Given the description of an element on the screen output the (x, y) to click on. 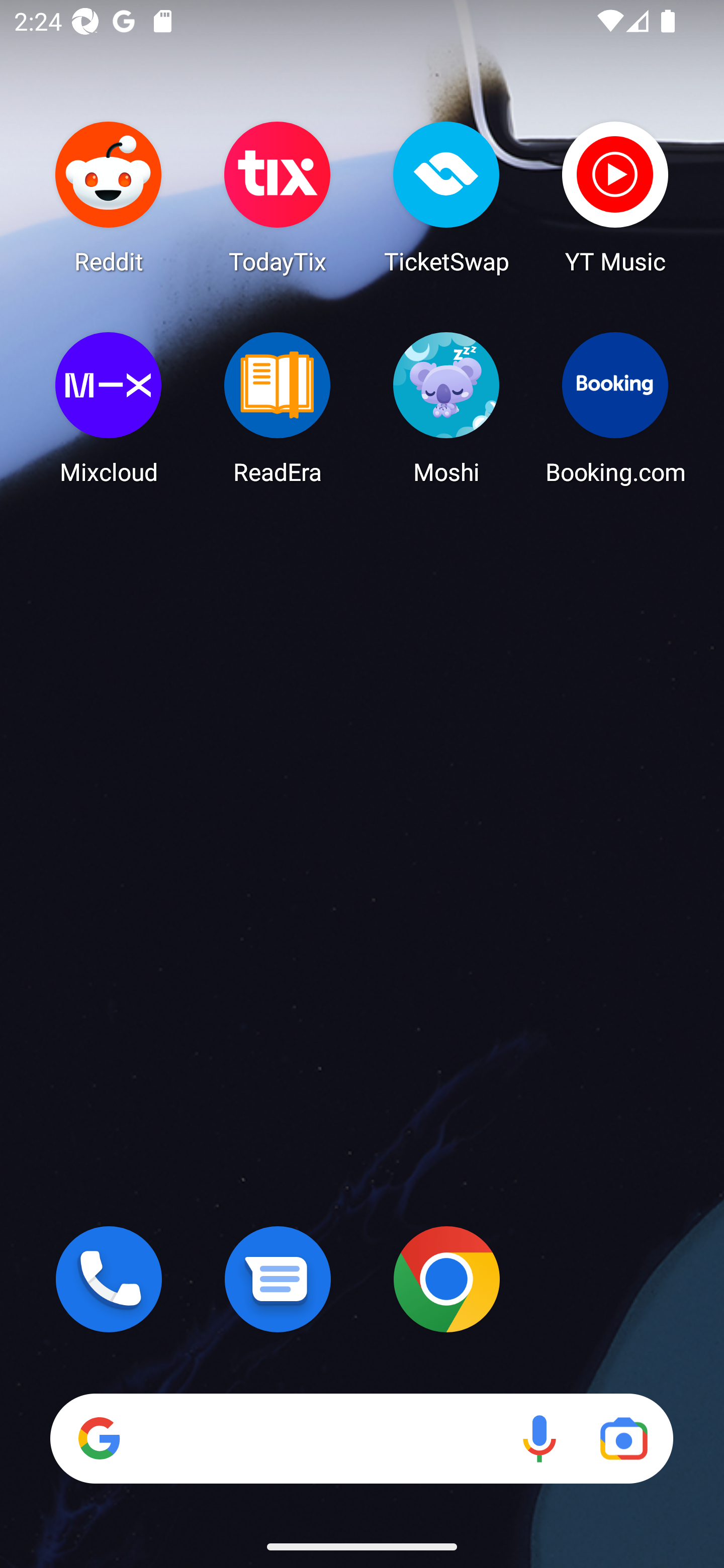
Reddit (108, 196)
TodayTix (277, 196)
TicketSwap (445, 196)
YT Music (615, 196)
Mixcloud (108, 407)
ReadEra (277, 407)
Moshi (445, 407)
Booking.com (615, 407)
Phone (108, 1279)
Messages (277, 1279)
Chrome (446, 1279)
Search Voice search Google Lens (361, 1438)
Voice search (539, 1438)
Google Lens (623, 1438)
